Given the description of an element on the screen output the (x, y) to click on. 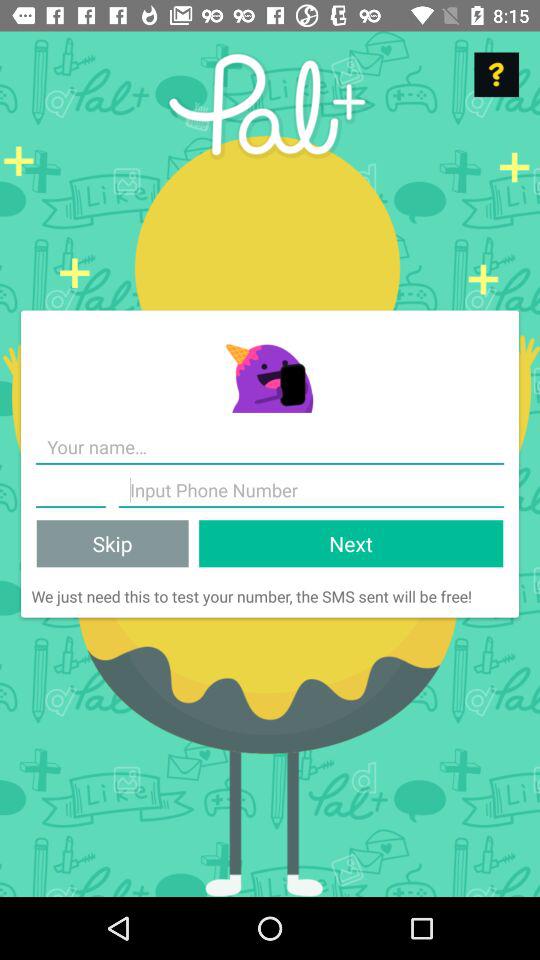
tap icon next to the skip item (351, 543)
